Given the description of an element on the screen output the (x, y) to click on. 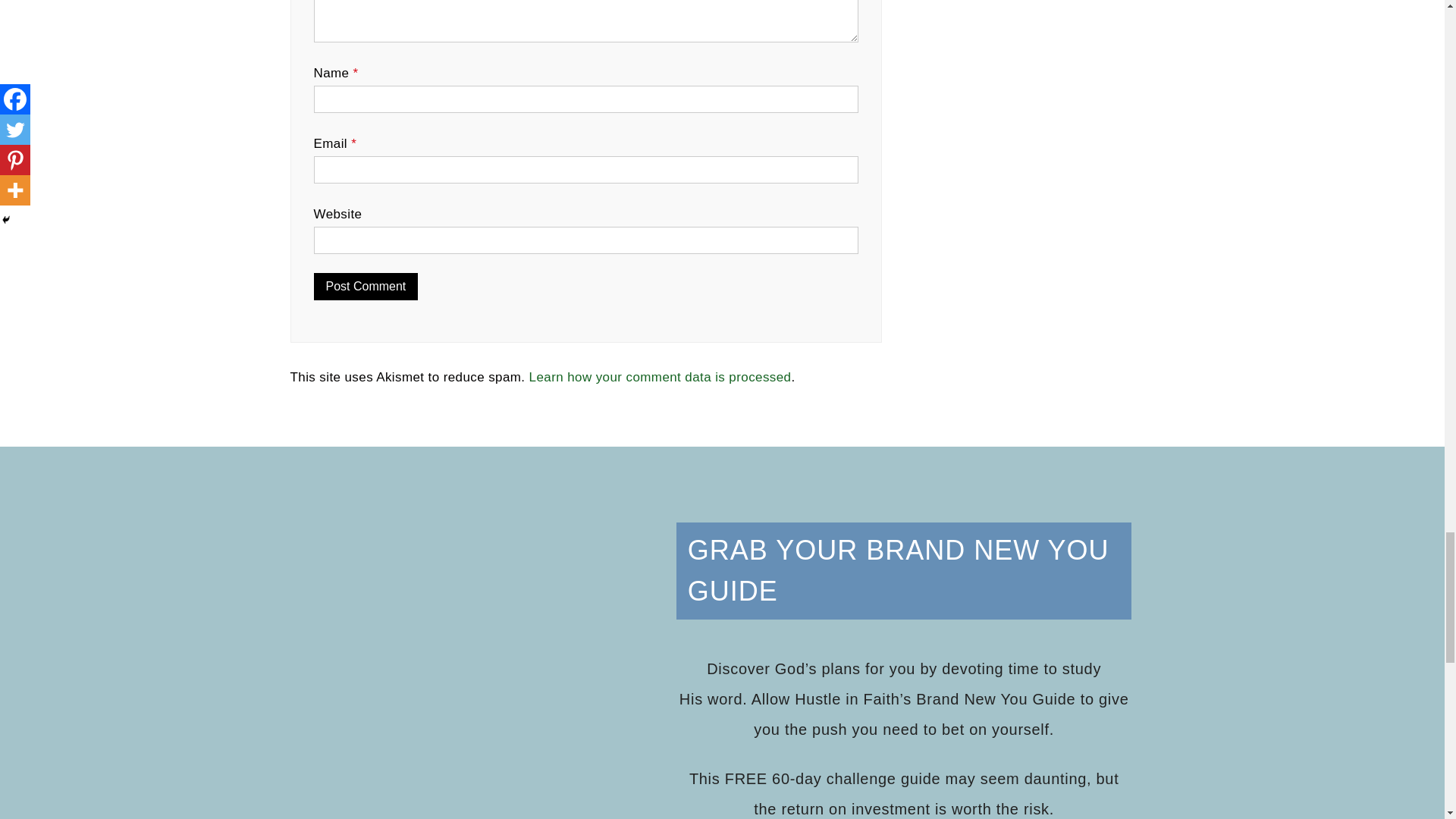
Post Comment (366, 286)
